Given the description of an element on the screen output the (x, y) to click on. 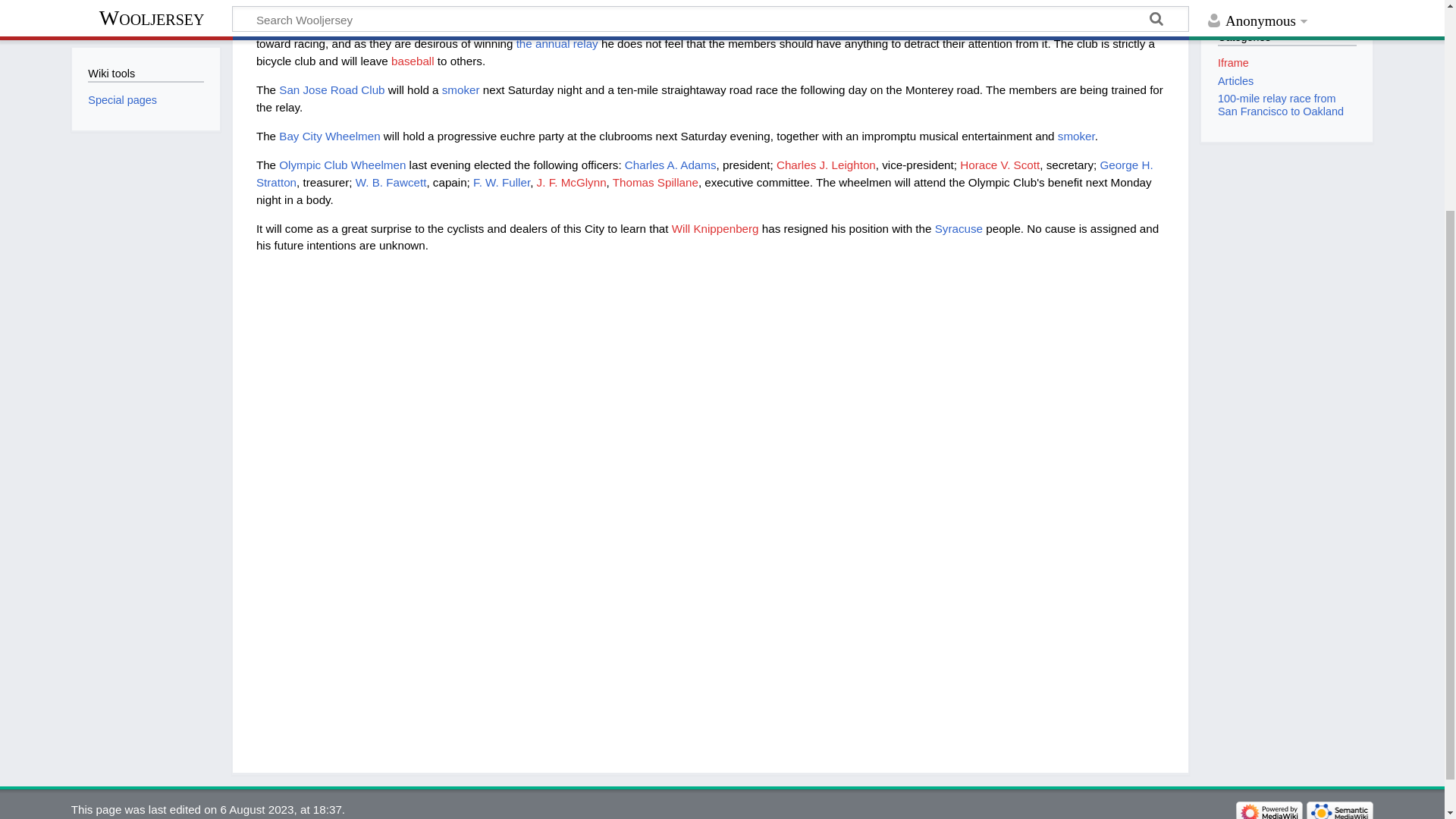
F. W. Fuller (501, 182)
Tom Cooper (393, 2)
Syracuse (958, 228)
Interclub Baseball League (563, 26)
W. A. Terrill (571, 2)
Bay City Wheelmen (329, 135)
smoker (461, 89)
Charles J. Leighton (826, 164)
W. A. Terrill (571, 2)
Will Knippenberg (714, 228)
